Given the description of an element on the screen output the (x, y) to click on. 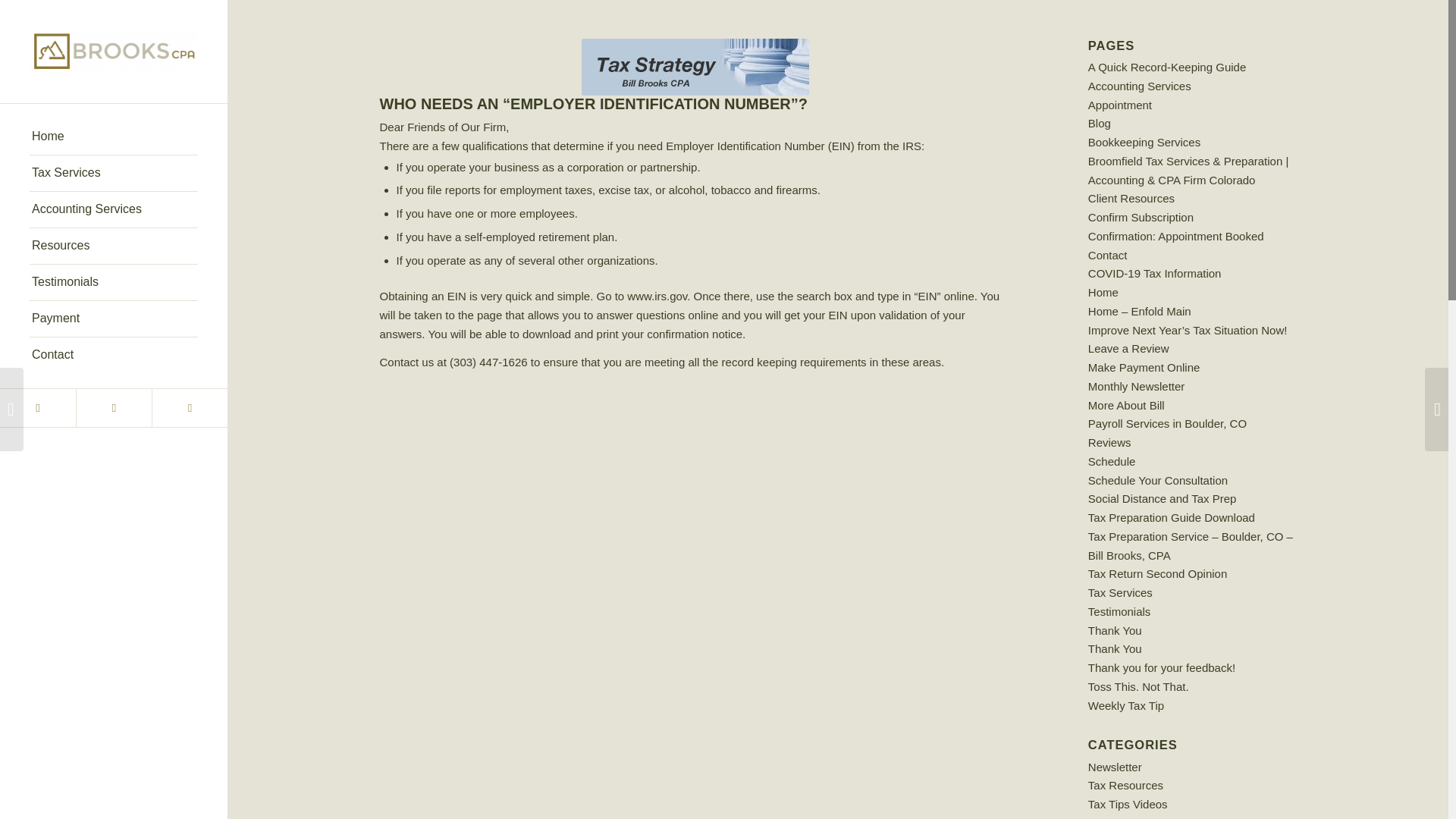
Appointment (1119, 104)
Accounting Services (1139, 85)
Testimonials (113, 282)
Youtube (189, 407)
Payment (113, 319)
Accounting Services (113, 209)
Tax Services (113, 173)
Bookkeeping Services (1143, 141)
Resources (113, 246)
Twitter (37, 407)
Blog (1098, 123)
Home (113, 136)
A Quick Record-Keeping Guide (1166, 66)
Footer (694, 66)
Contact (113, 355)
